Given the description of an element on the screen output the (x, y) to click on. 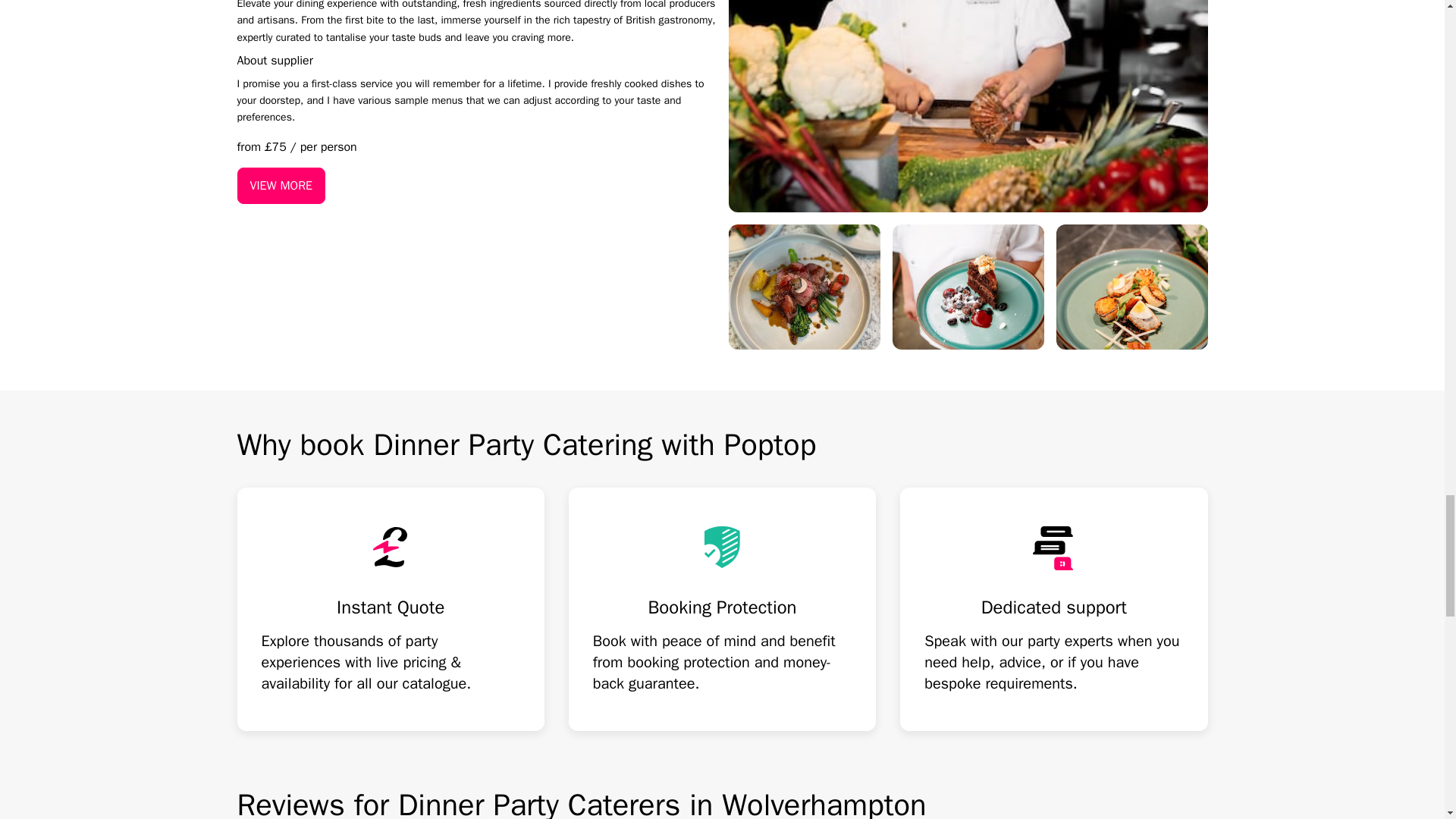
VIEW MORE (279, 185)
